Given the description of an element on the screen output the (x, y) to click on. 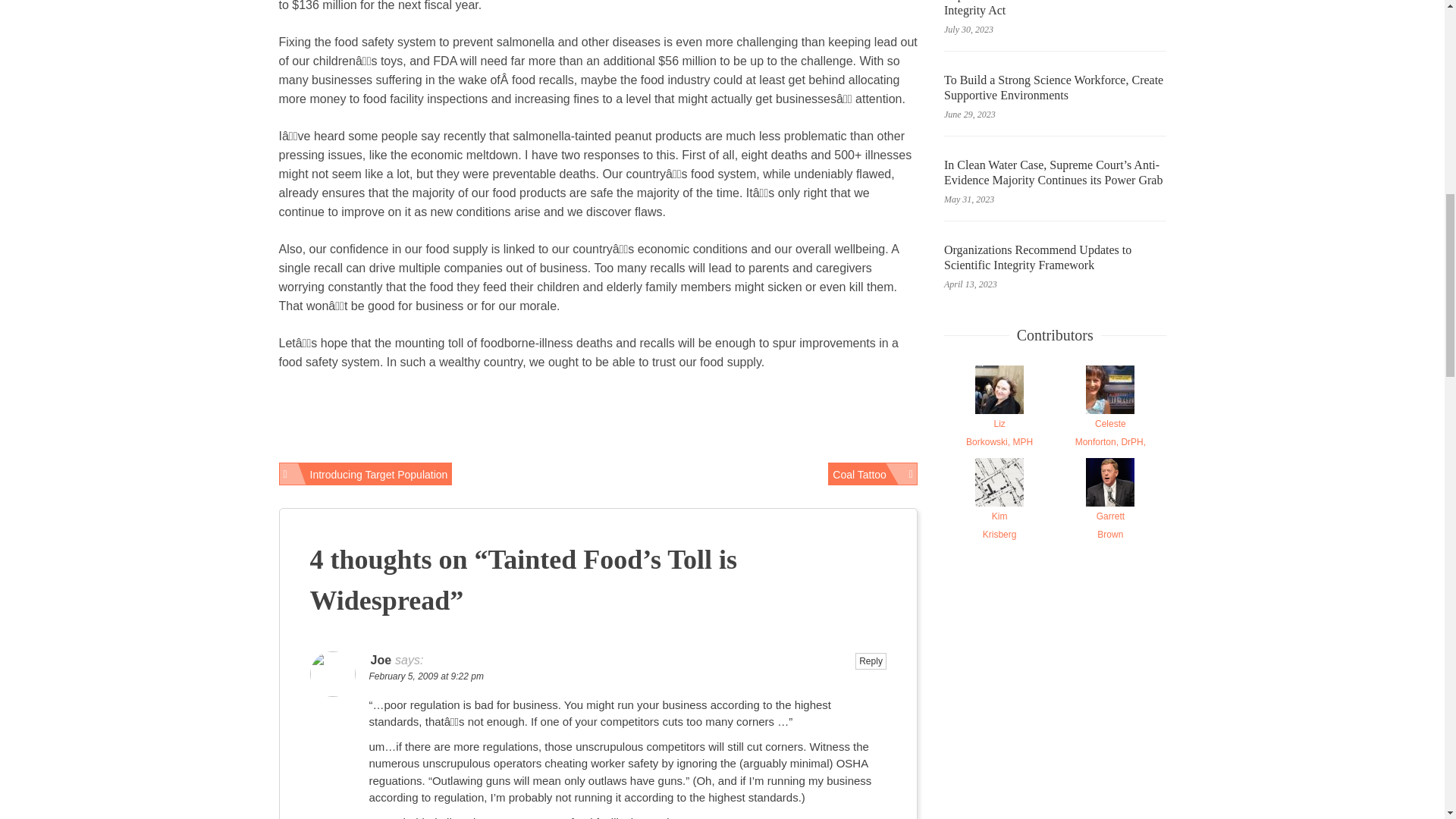
Introducing Target Population (365, 473)
Rep. Tonko Reintroduces the Scientific Integrity Act (1110, 432)
Coal Tattoo (1054, 11)
February 5, 2009 at 9:22 pm (1110, 525)
Reply (872, 473)
